Given the description of an element on the screen output the (x, y) to click on. 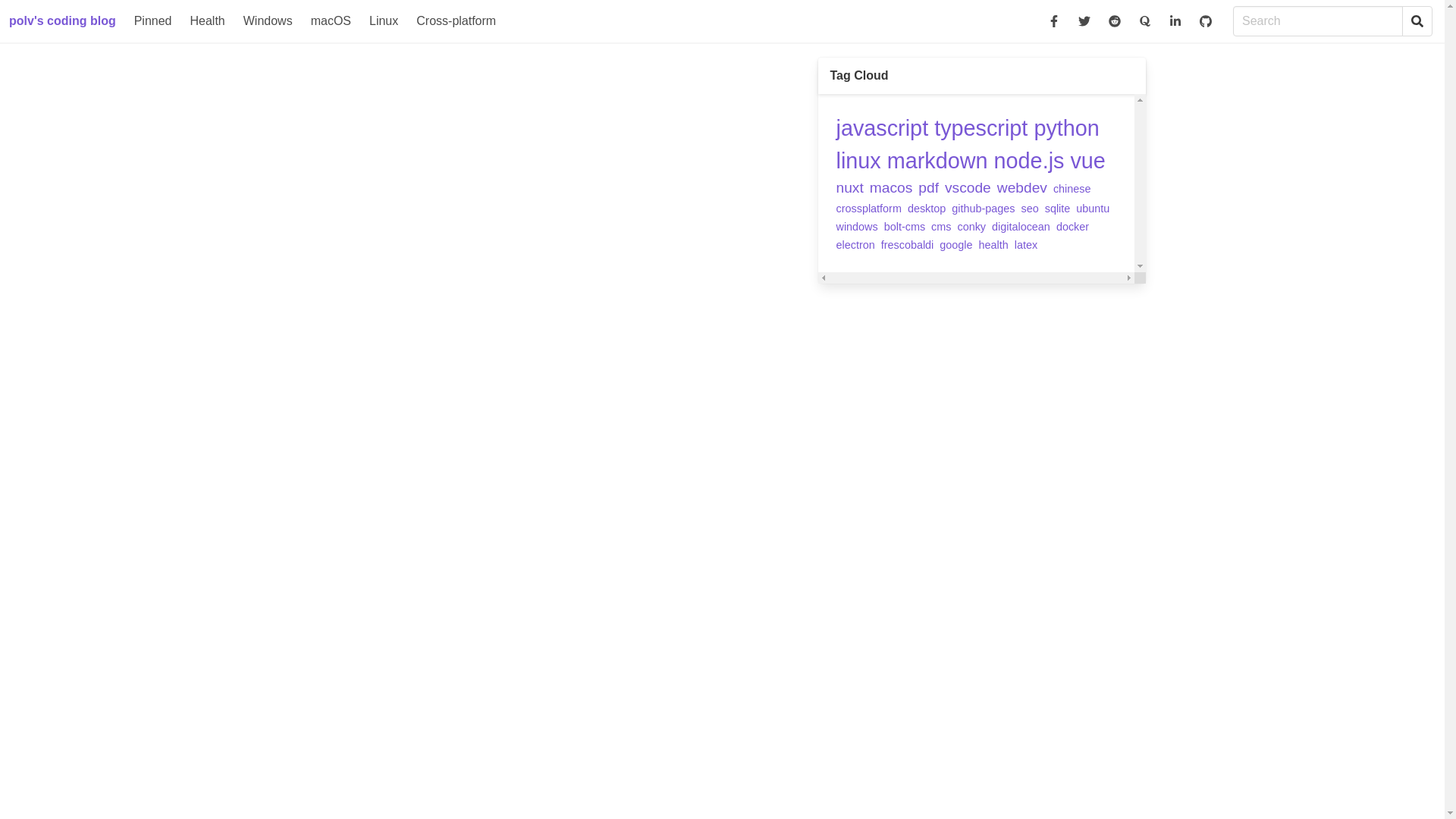
electron Element type: text (854, 244)
github-pages Element type: text (982, 208)
node.js Element type: text (1029, 160)
typescript Element type: text (980, 128)
polv's coding blog Element type: text (62, 21)
ubuntu Element type: text (1092, 208)
macOS Element type: text (330, 21)
macos Element type: text (891, 187)
health Element type: text (993, 244)
digitalocean Element type: text (1020, 226)
bolt-cms Element type: text (904, 226)
frescobaldi Element type: text (907, 244)
cms Element type: text (940, 226)
vue Element type: text (1087, 160)
google Element type: text (955, 244)
Cross-platform Element type: text (456, 21)
seo Element type: text (1029, 208)
chinese Element type: text (1072, 188)
conky Element type: text (971, 226)
latex Element type: text (1025, 244)
vscode Element type: text (967, 187)
windows Element type: text (856, 226)
linux Element type: text (857, 160)
Linux Element type: text (383, 21)
Pinned Element type: text (153, 21)
Health Element type: text (207, 21)
markdown Element type: text (937, 160)
webdev Element type: text (1022, 187)
docker Element type: text (1072, 226)
python Element type: text (1065, 128)
javascript Element type: text (881, 128)
Windows Element type: text (267, 21)
sqlite Element type: text (1057, 208)
crossplatform Element type: text (867, 208)
nuxt Element type: text (848, 187)
desktop Element type: text (926, 208)
pdf Element type: text (928, 187)
